Given the description of an element on the screen output the (x, y) to click on. 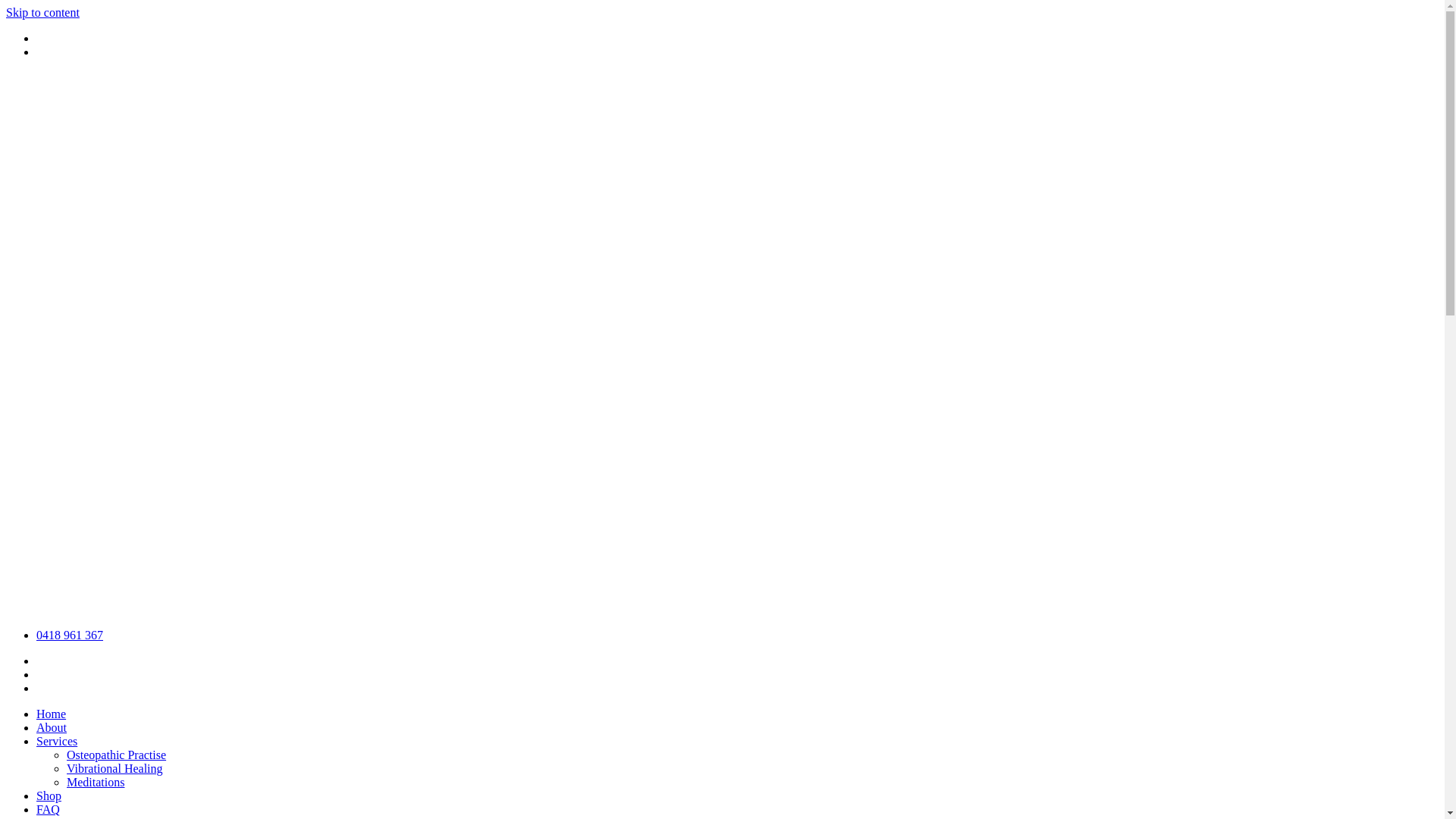
0418 961 367 Element type: text (69, 634)
Meditations Element type: text (95, 781)
Shop Element type: text (48, 795)
Skip to content Element type: text (42, 12)
FAQ Element type: text (47, 809)
Osteopathic Practise Element type: text (116, 754)
About Element type: text (51, 727)
Home Element type: text (50, 713)
Vibrational Healing Element type: text (114, 768)
Services Element type: text (56, 740)
